Given the description of an element on the screen output the (x, y) to click on. 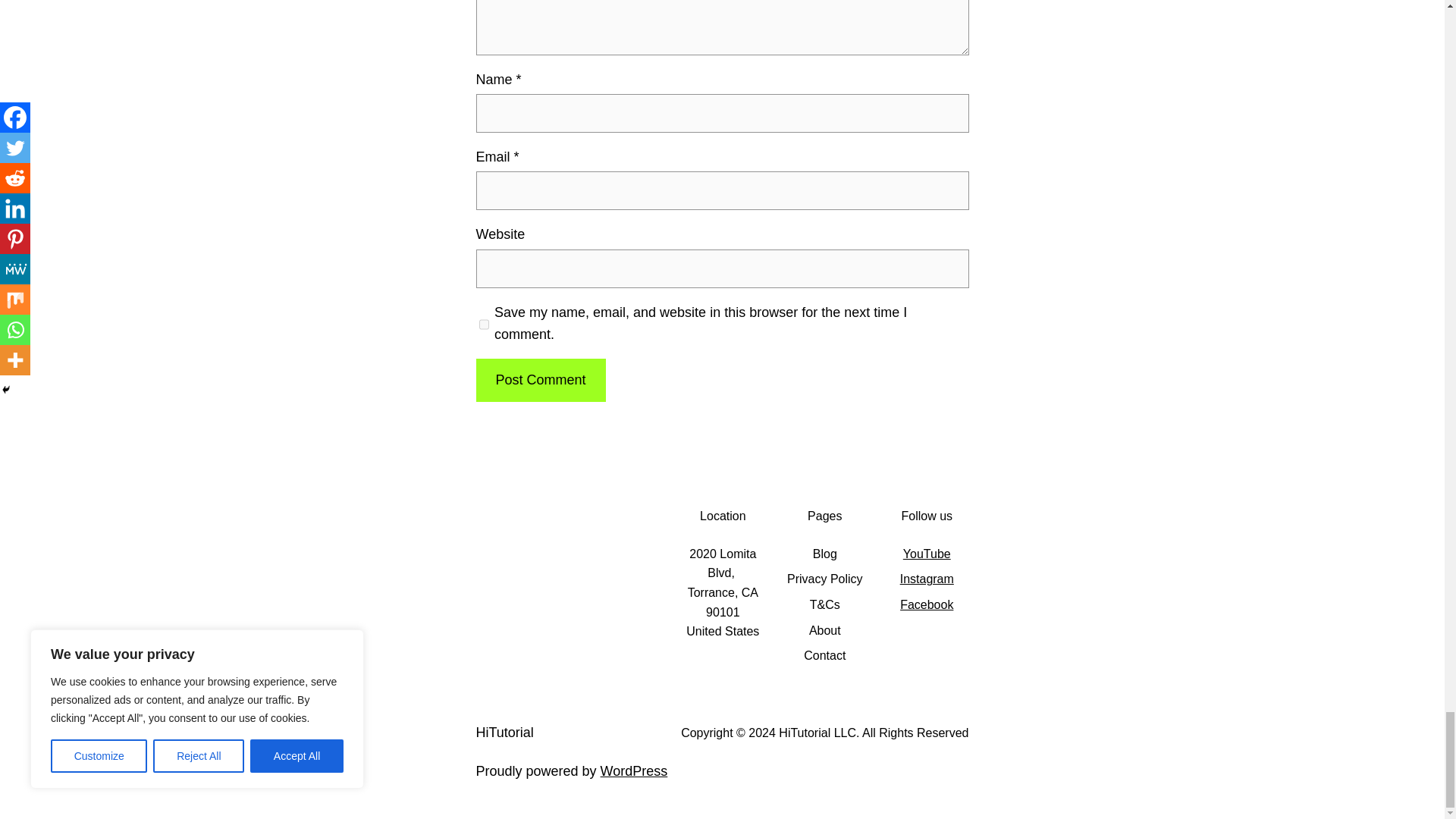
Post Comment (540, 380)
